Given the description of an element on the screen output the (x, y) to click on. 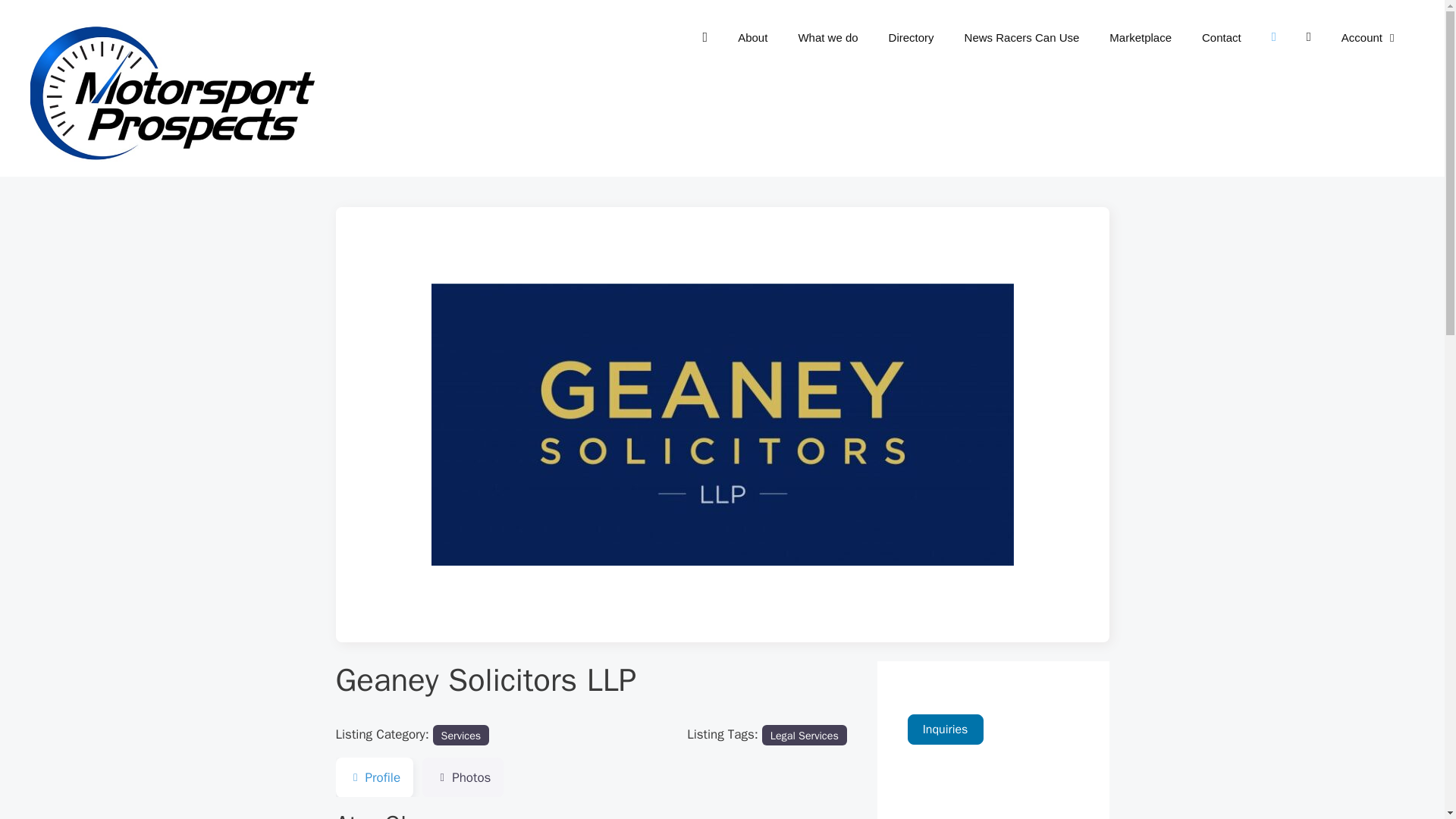
Photos (462, 777)
Contact (1221, 37)
News Racers Can Use (1021, 37)
Marketplace (1140, 37)
Account (1369, 37)
What we do (827, 37)
Directory (911, 37)
Profile (373, 777)
About (752, 37)
